Given the description of an element on the screen output the (x, y) to click on. 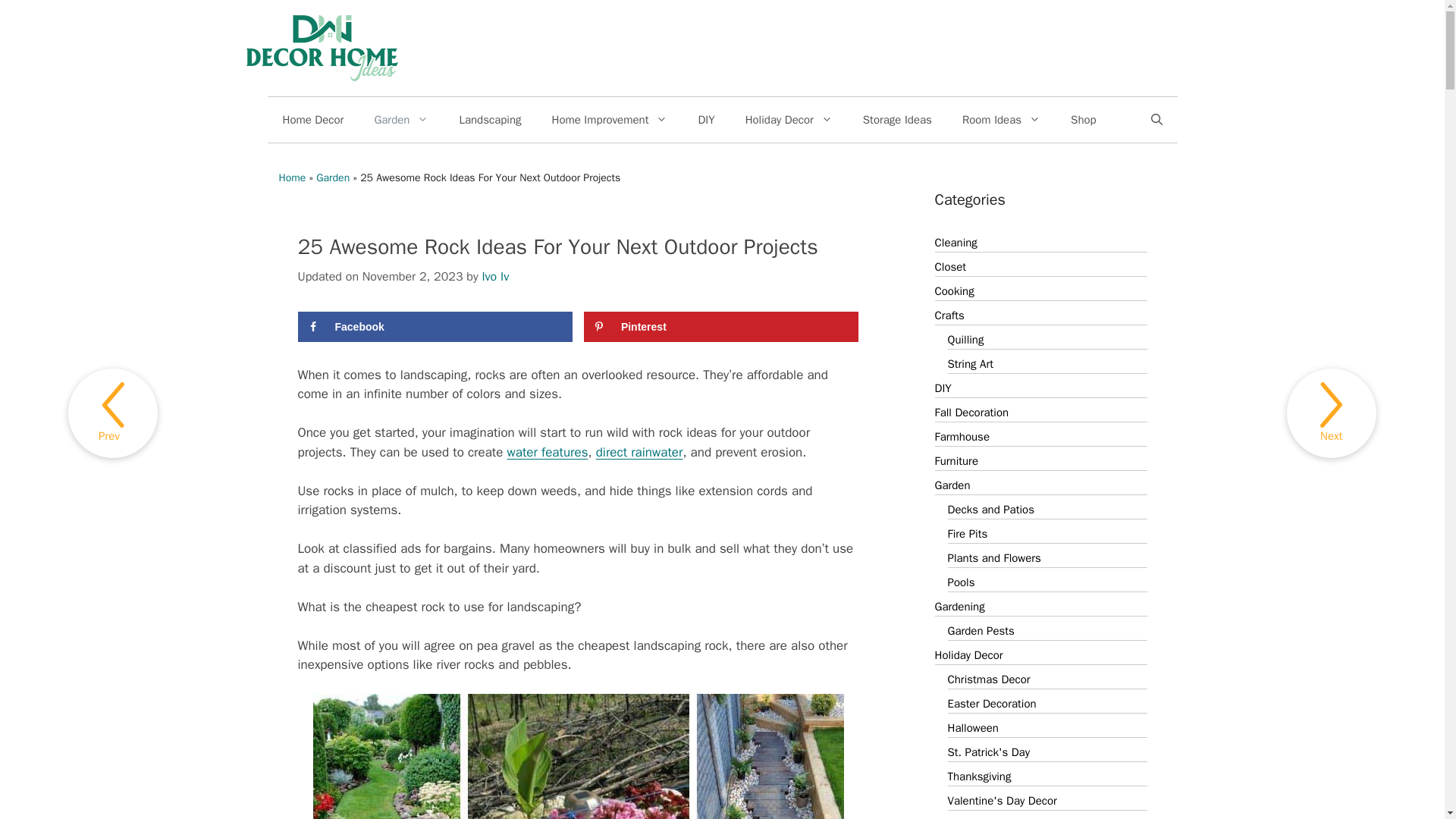
View all posts by Ivo Iv (494, 276)
Share on Facebook (434, 327)
Garden (401, 119)
Home Decor (312, 119)
Save to Pinterest (721, 327)
